Given the description of an element on the screen output the (x, y) to click on. 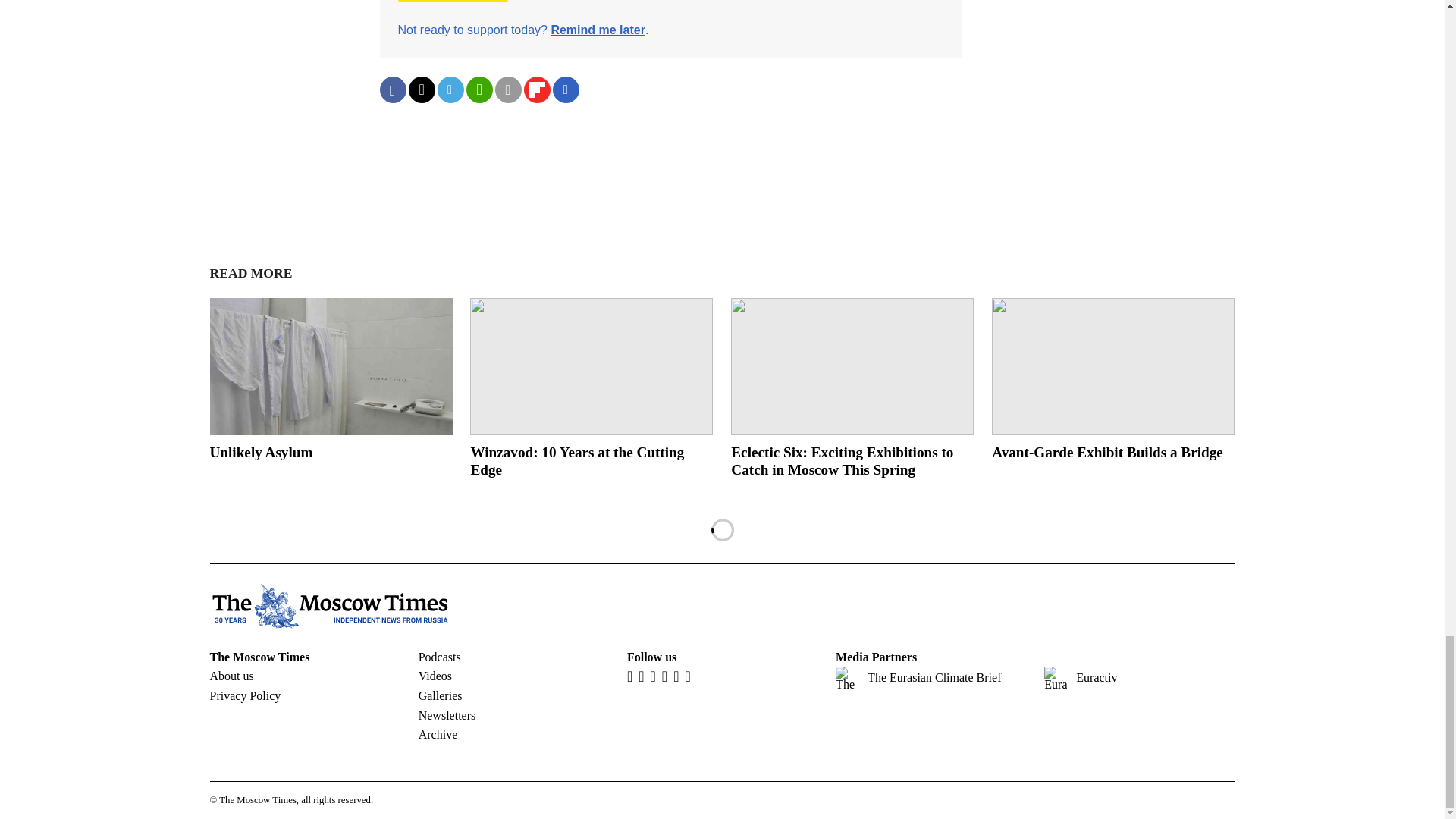
Share on Facebook (392, 89)
Share on Telegram (449, 89)
Share on Twitter (420, 89)
Share on Flipboard (536, 89)
